Given the description of an element on the screen output the (x, y) to click on. 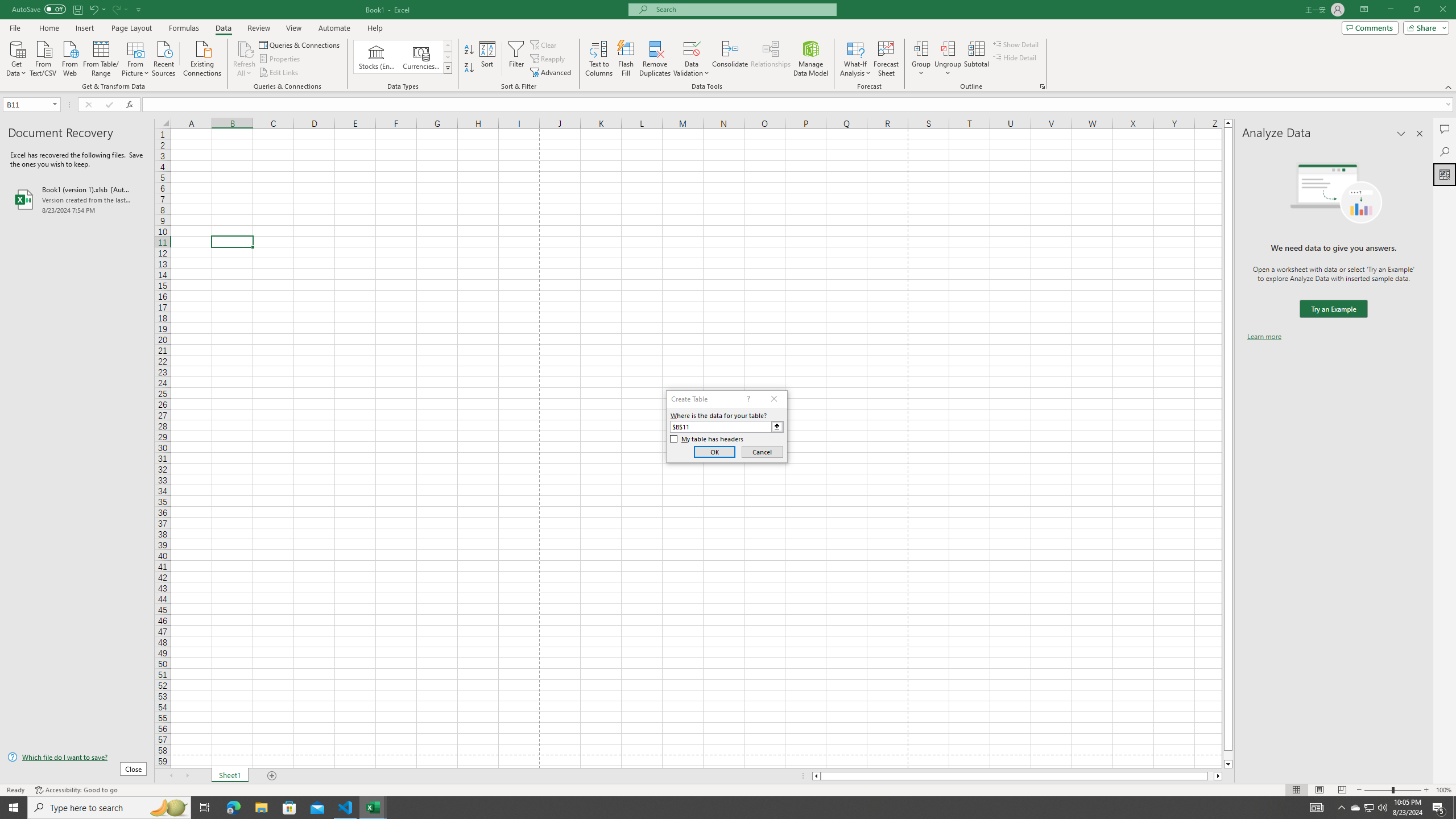
Relationships (770, 58)
Help (374, 28)
What-If Analysis (855, 58)
